Given the description of an element on the screen output the (x, y) to click on. 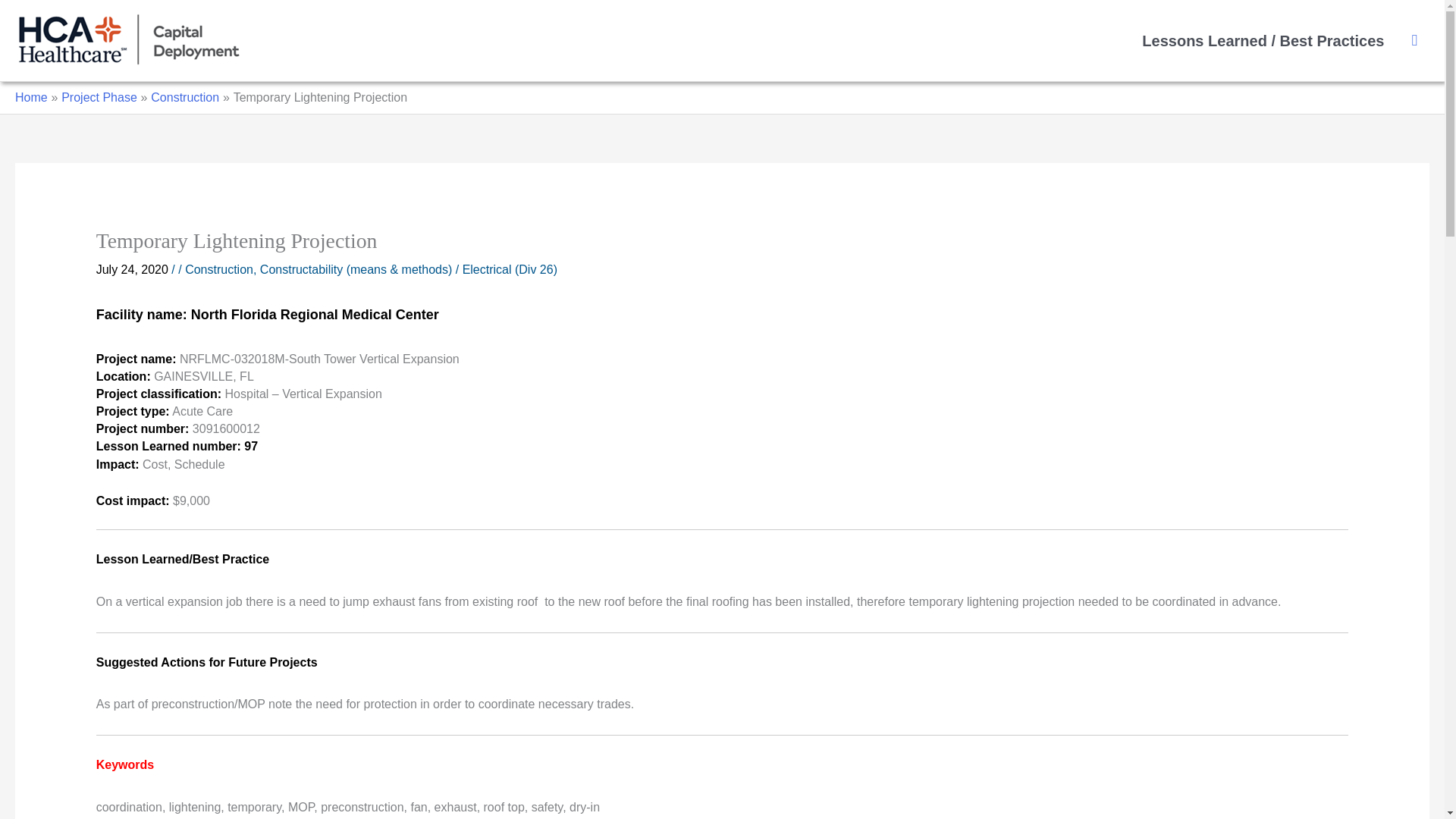
Home (31, 97)
Construction (218, 269)
Construction (185, 97)
Project Phase (98, 97)
